Given the description of an element on the screen output the (x, y) to click on. 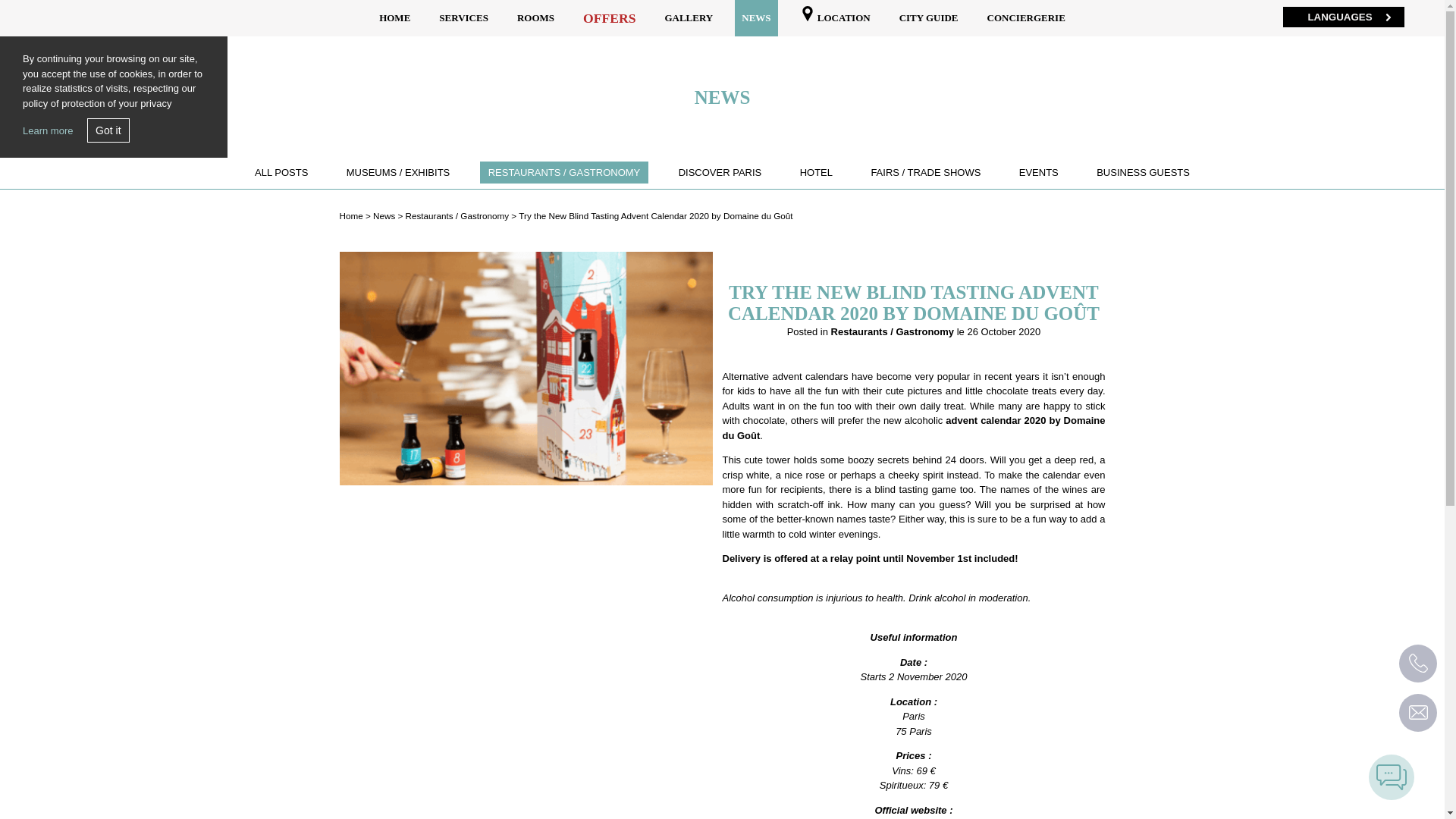
EVENTS (1037, 171)
LANGUAGES (1343, 16)
SERVICES (463, 18)
LOCATION (835, 18)
ROOMS (535, 18)
HOTEL (816, 171)
ALL POSTS (281, 171)
NEWS (756, 18)
CITY GUIDE (928, 18)
Home (350, 215)
CONCIERGERIE (1025, 18)
OFFERS (609, 18)
GALLERY (688, 18)
BUSINESS GUESTS (1143, 171)
DISCOVER PARIS (718, 171)
